Given the description of an element on the screen output the (x, y) to click on. 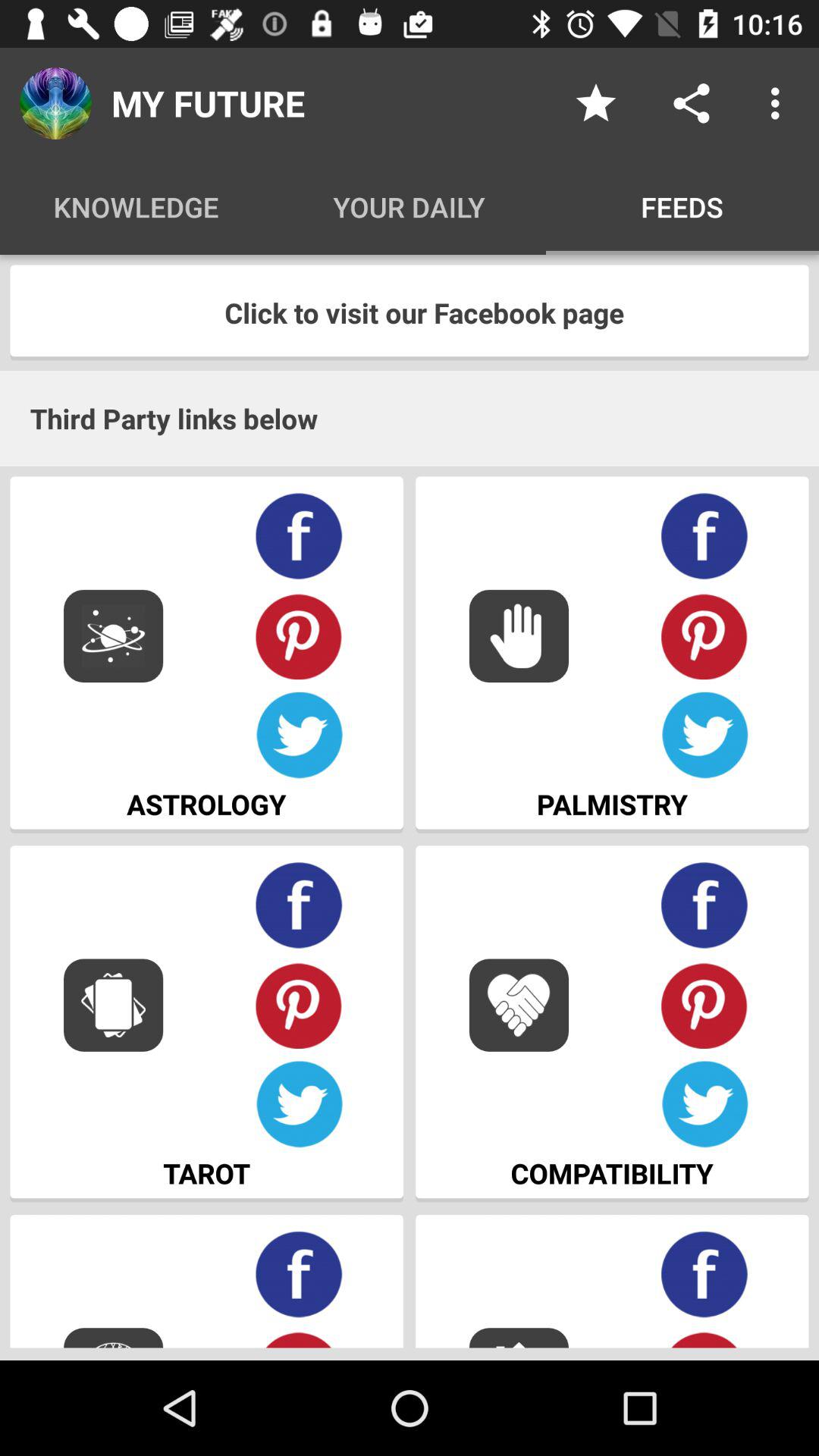
share (691, 103)
